Given the description of an element on the screen output the (x, y) to click on. 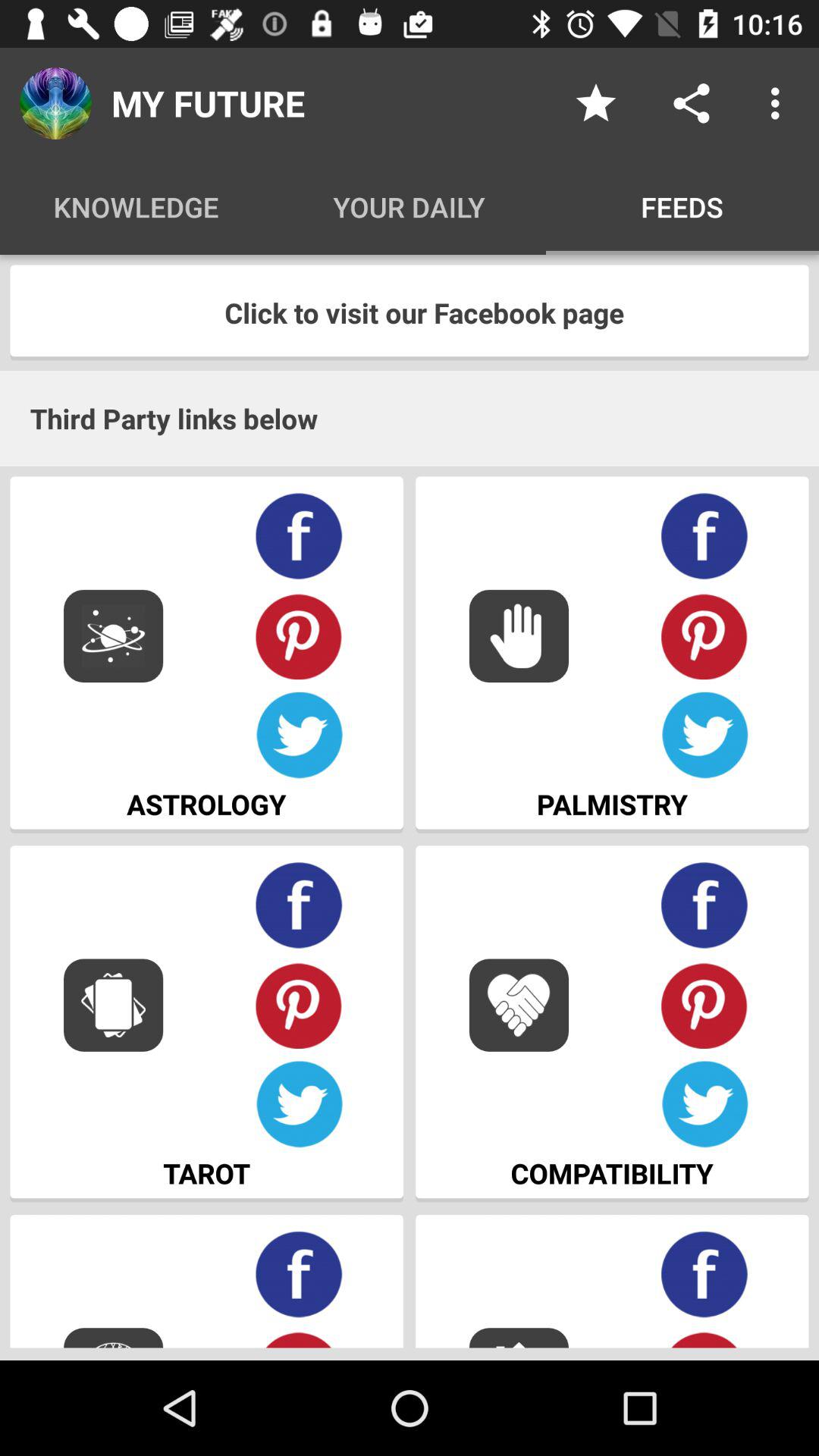
share (691, 103)
